Given the description of an element on the screen output the (x, y) to click on. 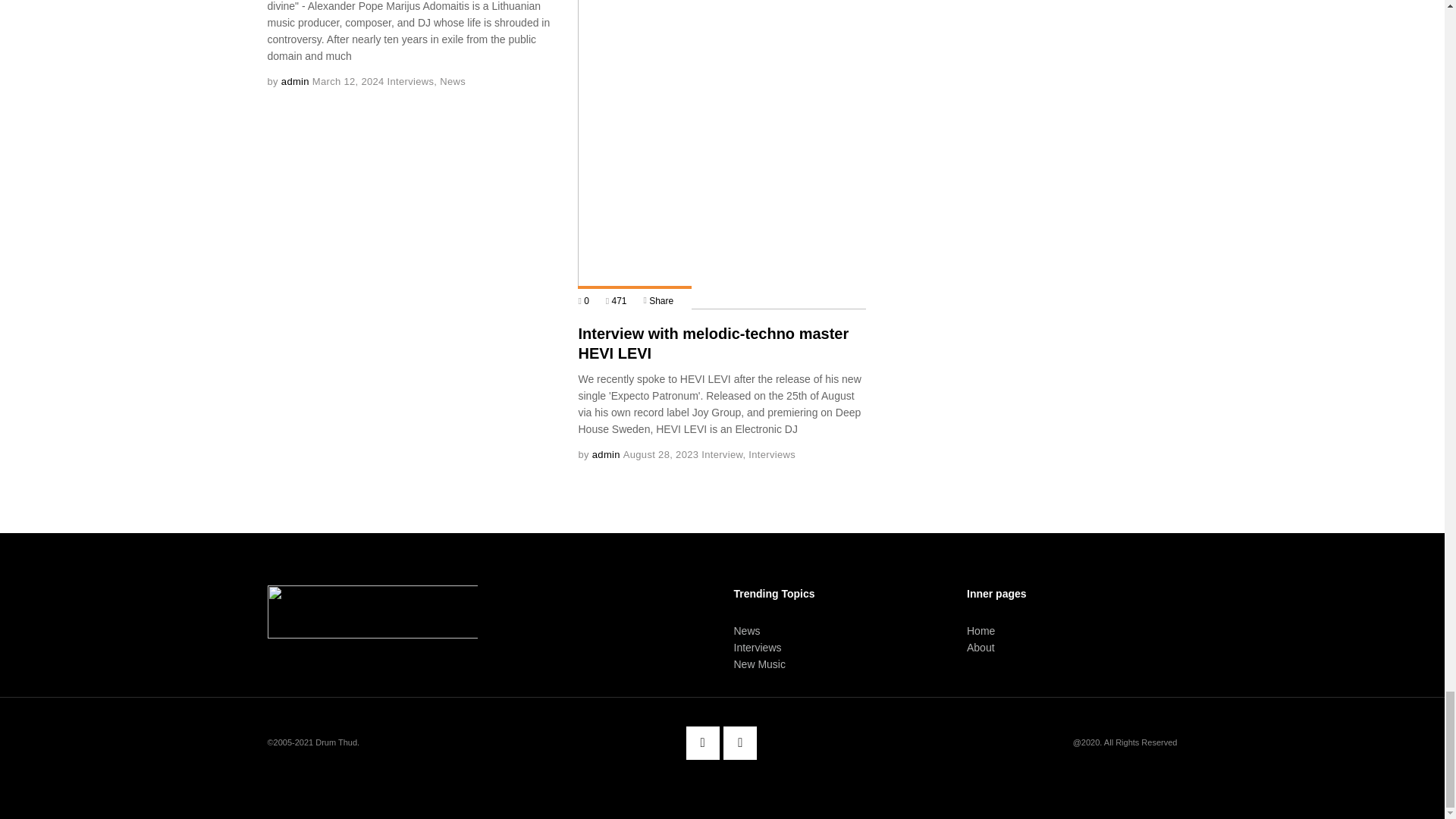
Interview with melodic-techno master HEVI LEVI (713, 343)
Interview with melodic-techno master HEVI LEVI (722, 154)
